Given the description of an element on the screen output the (x, y) to click on. 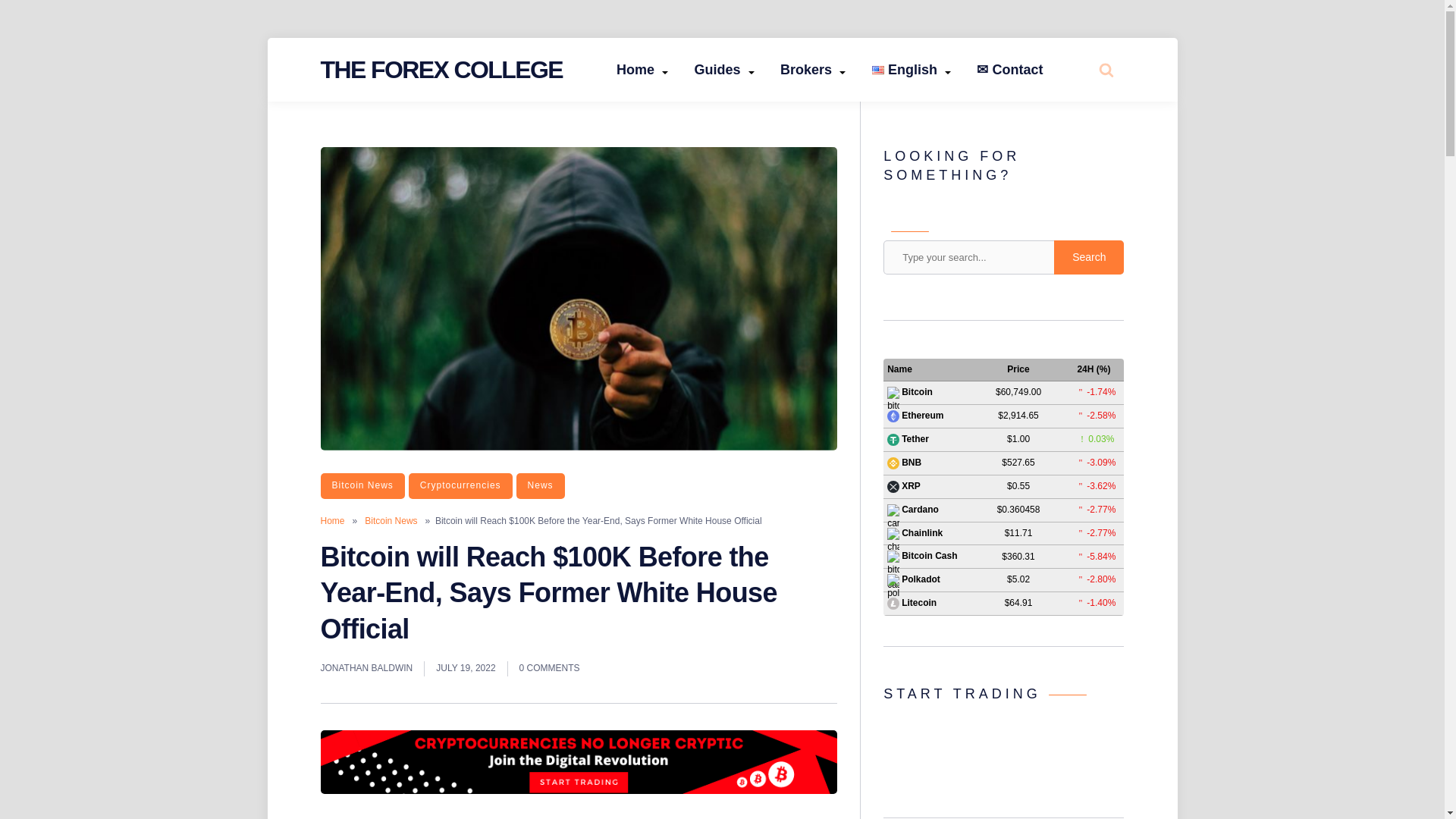
Guides (723, 69)
Bitcoin News (390, 520)
English (911, 69)
Bitcoin News (362, 485)
Brokers (812, 69)
Home (331, 520)
Cryptocurrencies (460, 485)
Search (1074, 127)
News (540, 485)
Search (1089, 256)
THE FOREX COLLEGE (441, 69)
JONATHAN BALDWIN (366, 668)
Home (642, 69)
